Given the description of an element on the screen output the (x, y) to click on. 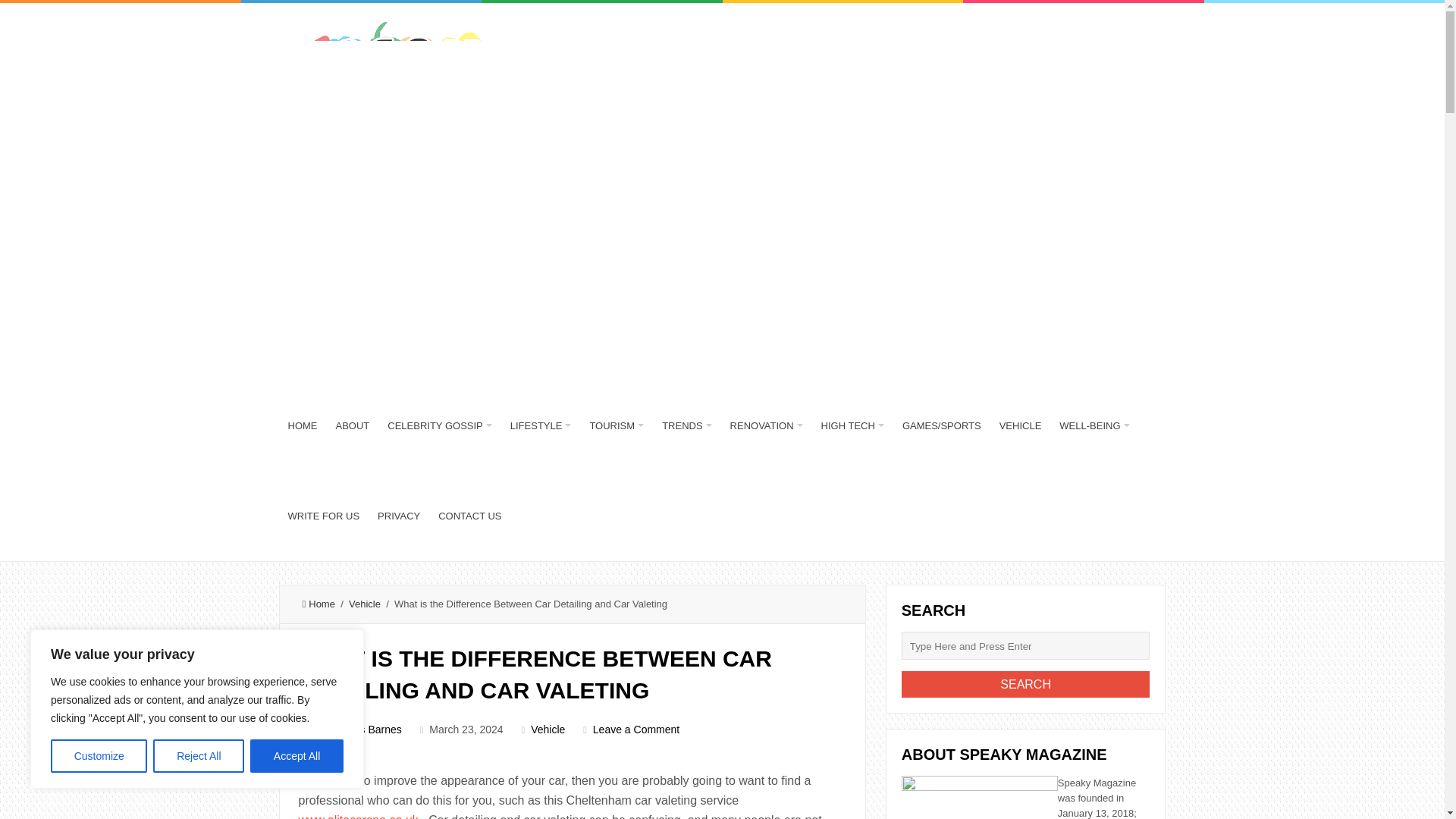
HIGH TECH (852, 425)
Accept All (296, 756)
CELEBRITY GOSSIP (439, 425)
Reject All (198, 756)
Customize (98, 756)
RENOVATION (766, 425)
WELL-BEING (1093, 425)
Search (1025, 683)
March 23, 2024 (465, 729)
